Given the description of an element on the screen output the (x, y) to click on. 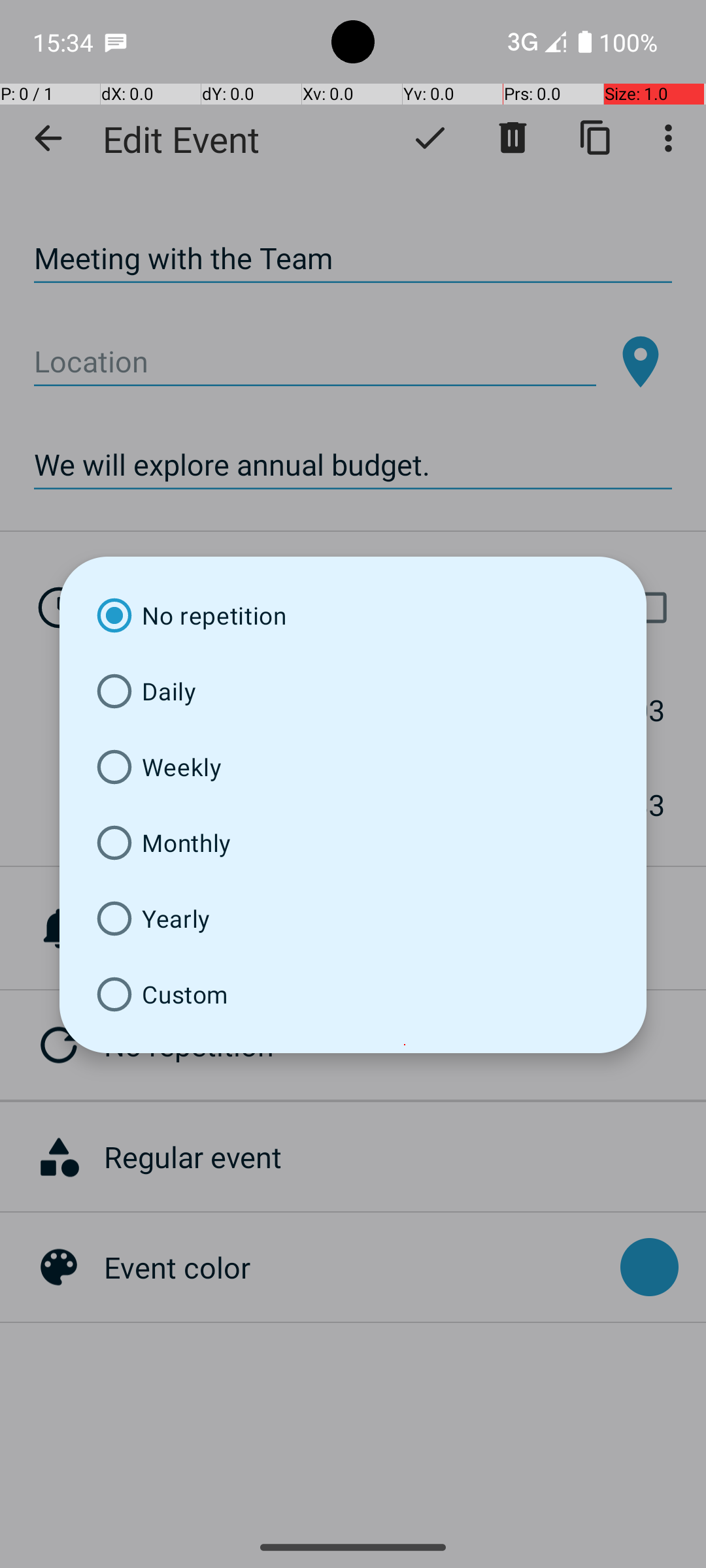
Daily Element type: android.widget.RadioButton (352, 691)
Weekly Element type: android.widget.RadioButton (352, 766)
Monthly Element type: android.widget.RadioButton (352, 842)
Yearly Element type: android.widget.RadioButton (352, 918)
Custom Element type: android.widget.RadioButton (352, 994)
